Given the description of an element on the screen output the (x, y) to click on. 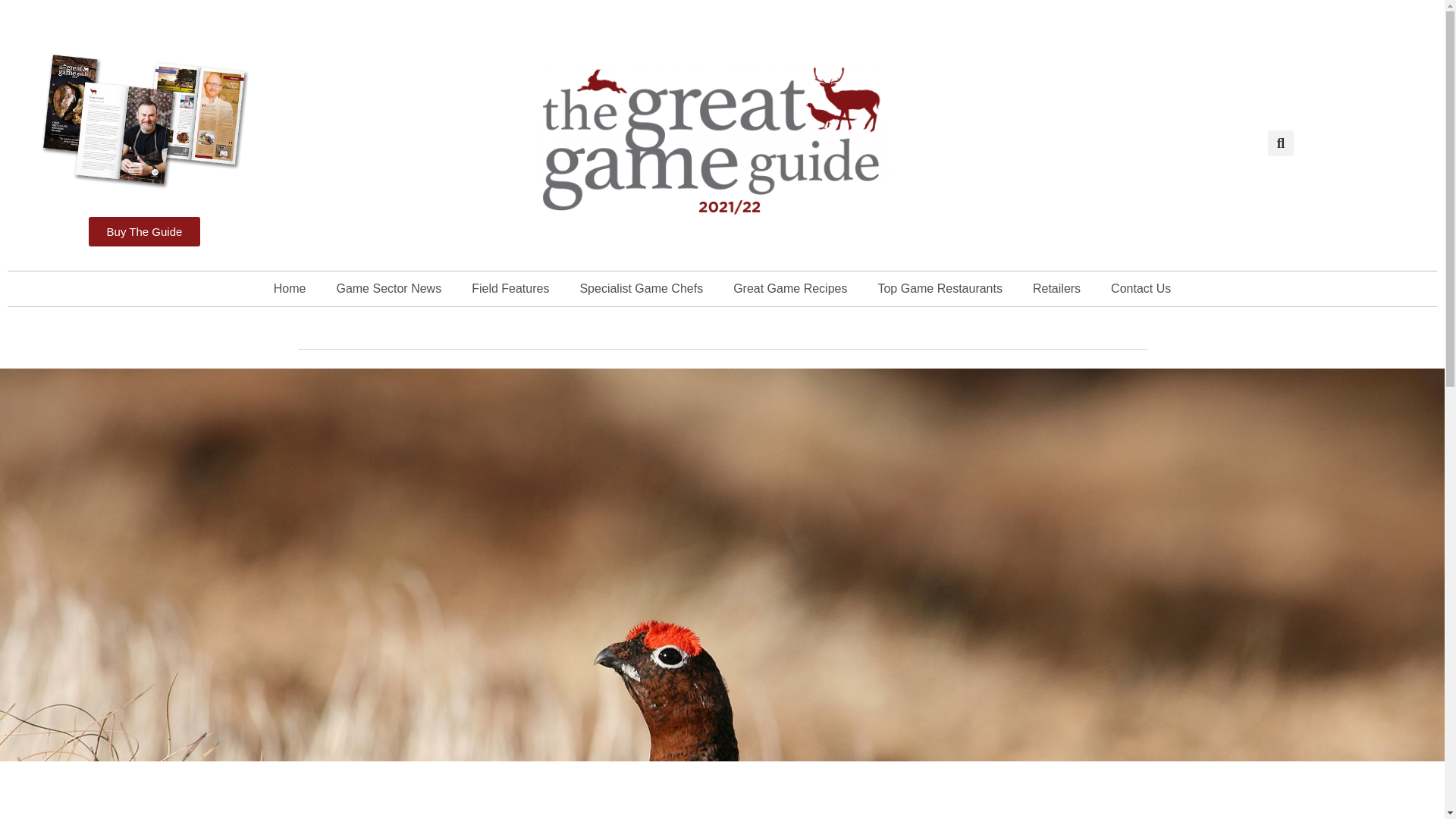
Specialist Game Chefs (640, 288)
Great Game Recipes (789, 288)
Retailers (1056, 288)
Field Features (510, 288)
Home (290, 288)
Top Game Restaurants (939, 288)
Buy The Guide (144, 231)
Game Sector News (388, 288)
Contact Us (1141, 288)
